Given the description of an element on the screen output the (x, y) to click on. 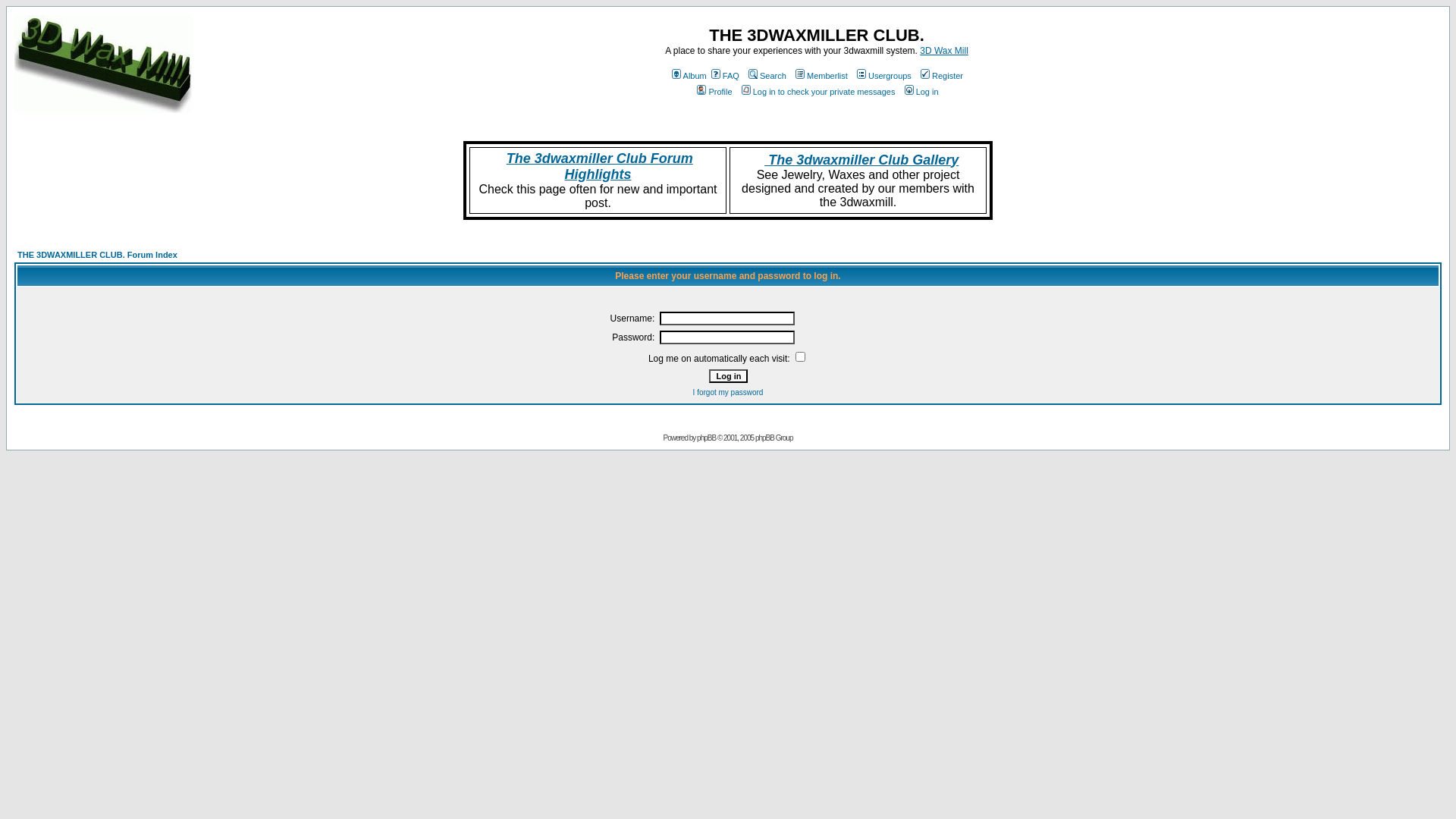
Memberlist Element type: text (820, 75)
Log in Element type: text (920, 91)
The 3dwaxmiller Club Forum Highlights Element type: text (599, 166)
Usergroups Element type: text (882, 75)
Profile Element type: text (712, 91)
3D Wax Mill Element type: text (943, 50)
Search Element type: text (766, 75)
I forgot my password Element type: text (728, 392)
Album Element type: text (687, 75)
THE 3DWAXMILLER CLUB. Forum Index Element type: text (97, 254)
Log in Element type: text (727, 375)
Log in to check your private messages Element type: text (817, 91)
The 3dwaxmiller Club Gallery Element type: text (861, 158)
Register Element type: text (940, 75)
phpBB Element type: text (705, 437)
FAQ Element type: text (724, 75)
